Given the description of an element on the screen output the (x, y) to click on. 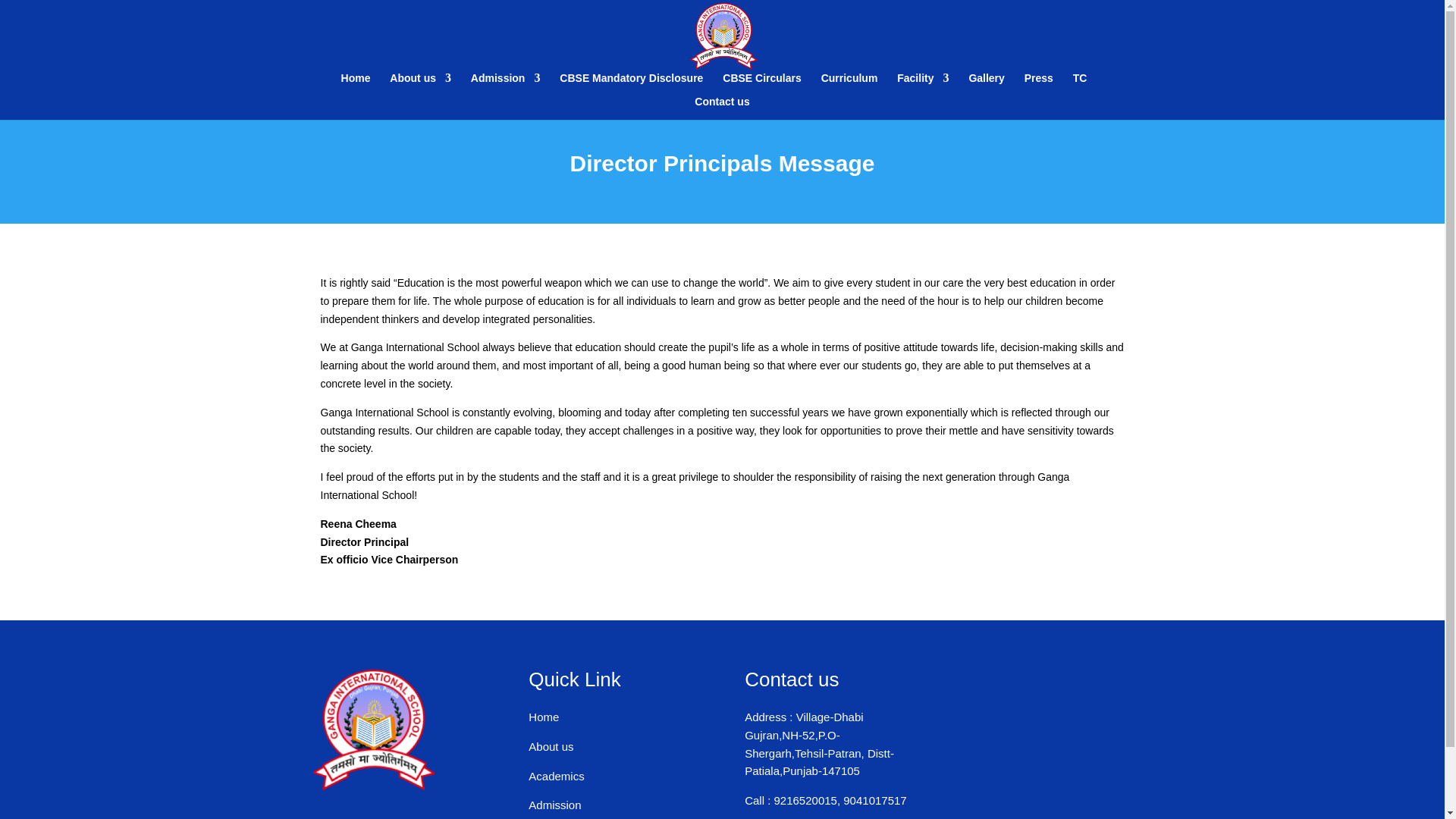
Contact us (721, 107)
CBSE Circulars (761, 84)
CBSE Mandatory Disclosure (631, 84)
Curriculum (849, 84)
Press (1038, 84)
Home (355, 84)
Gallery (986, 84)
Facility (922, 84)
About us (420, 84)
Admission (505, 84)
